Given the description of an element on the screen output the (x, y) to click on. 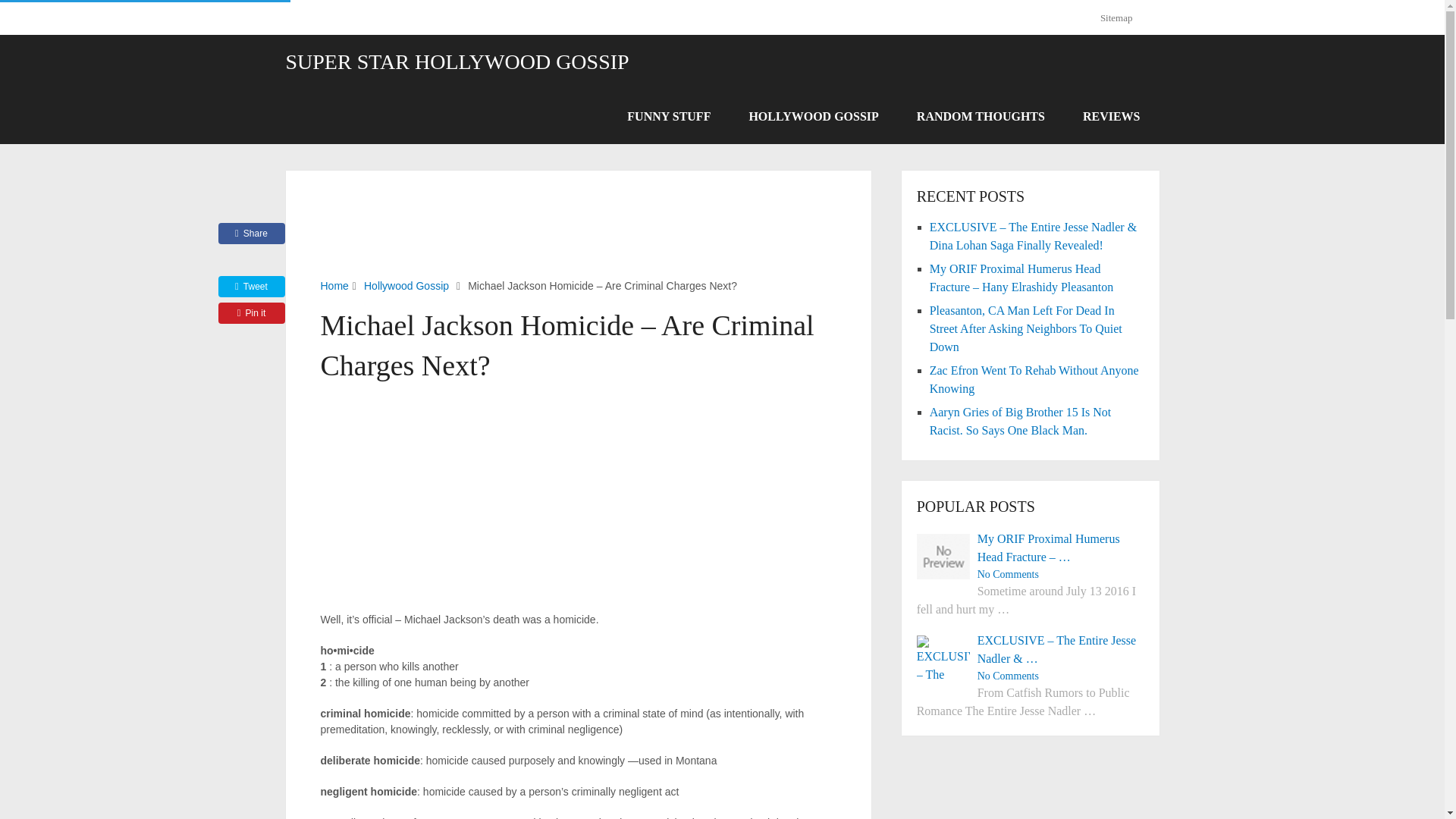
HOLLYWOOD GOSSIP (812, 116)
Tweet (251, 286)
FUNNY STUFF (668, 116)
Pin it (251, 312)
Zac Efron Went To Rehab Without Anyone Knowing (1034, 378)
Hollywood Gossip (406, 285)
REVIEWS (1111, 116)
Home (333, 285)
SUPER STAR HOLLYWOOD GOSSIP (456, 61)
RANDOM THOUGHTS (981, 116)
Share (251, 233)
Sitemap (1122, 17)
